Given the description of an element on the screen output the (x, y) to click on. 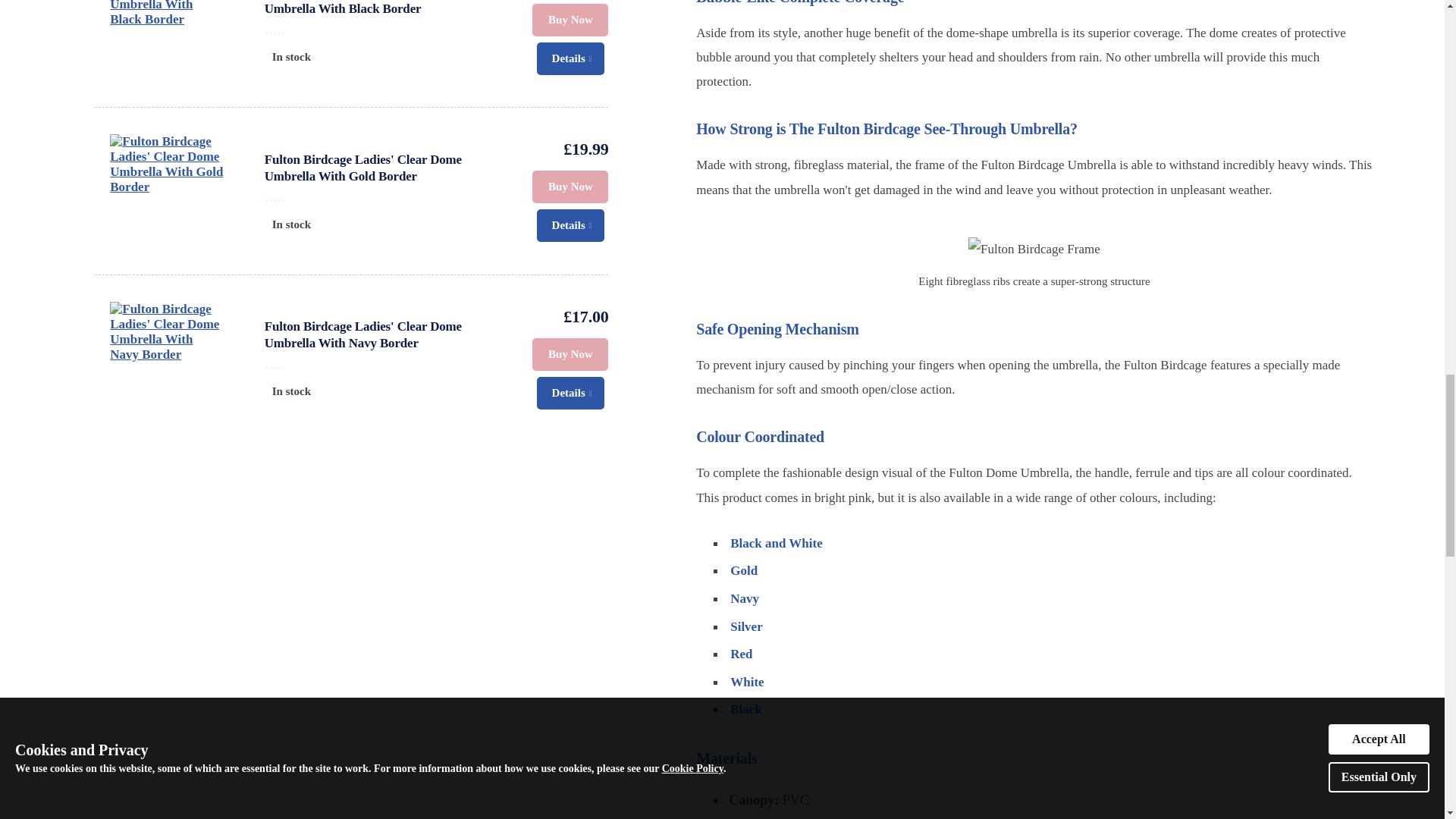
Not yet reviewed (383, 195)
Not yet reviewed (383, 362)
Add to Basket (570, 186)
Add to Basket (570, 20)
Add to Basket (570, 354)
Not yet reviewed (383, 28)
